Given the description of an element on the screen output the (x, y) to click on. 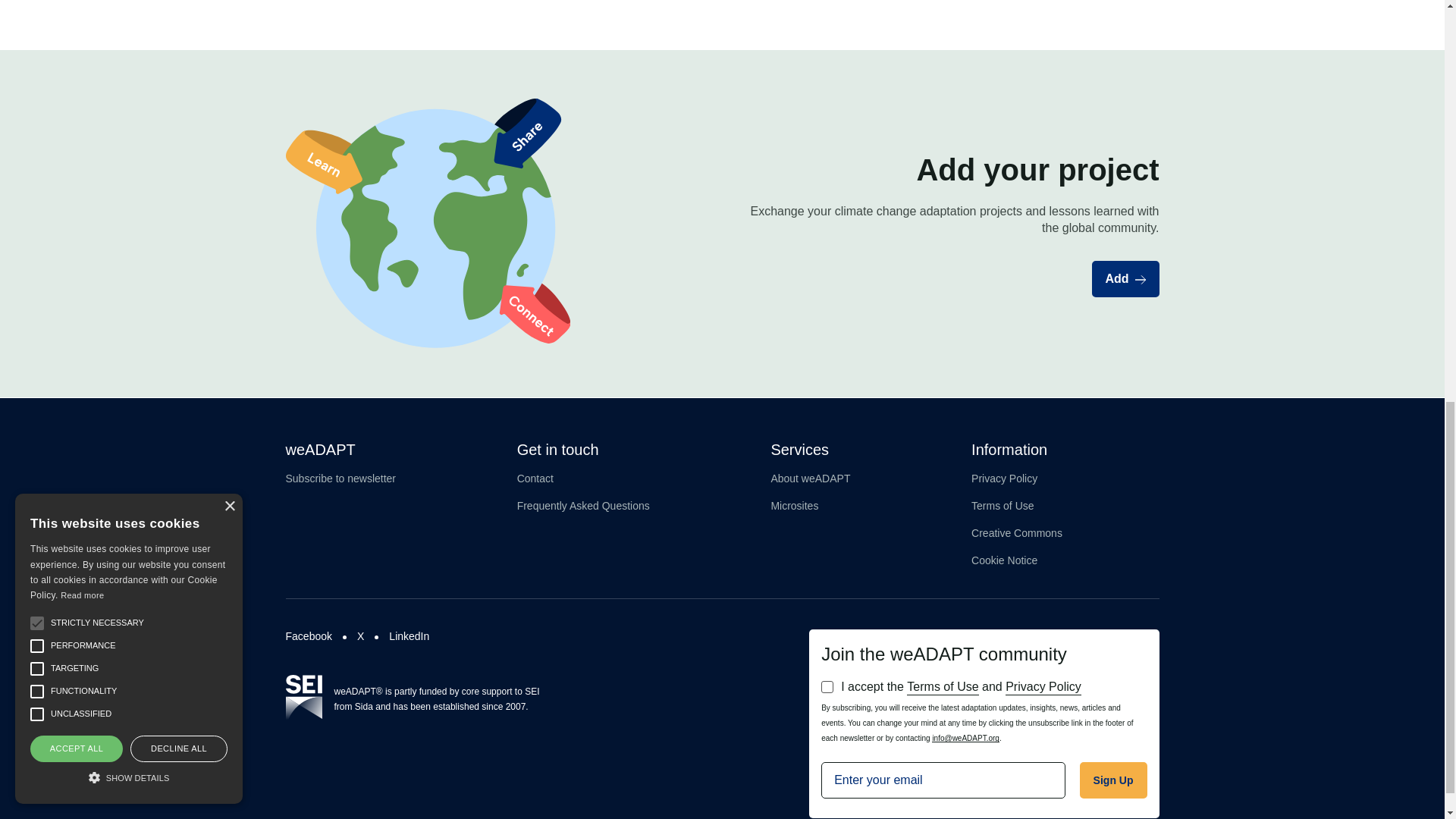
1 (826, 686)
Sign Up (1113, 780)
